Given the description of an element on the screen output the (x, y) to click on. 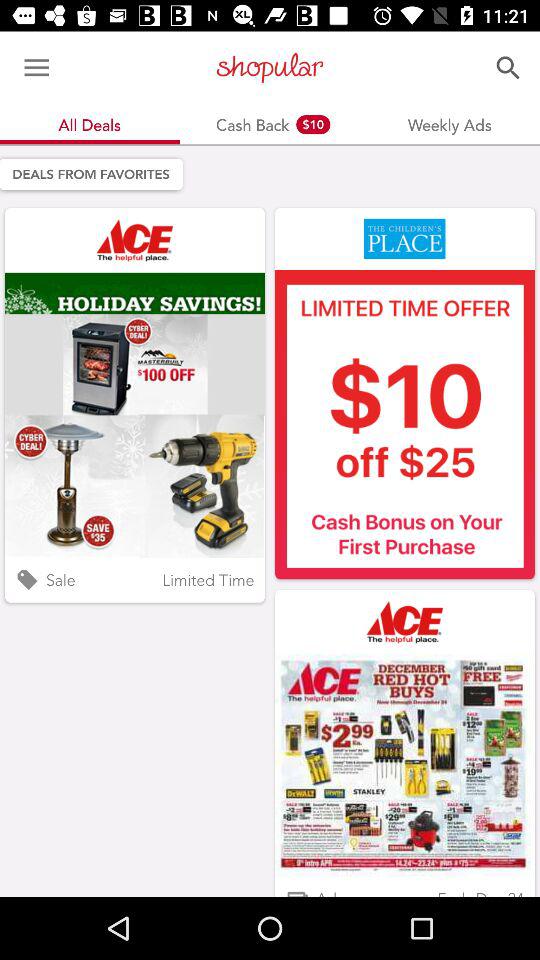
press icon above all deals (36, 68)
